Given the description of an element on the screen output the (x, y) to click on. 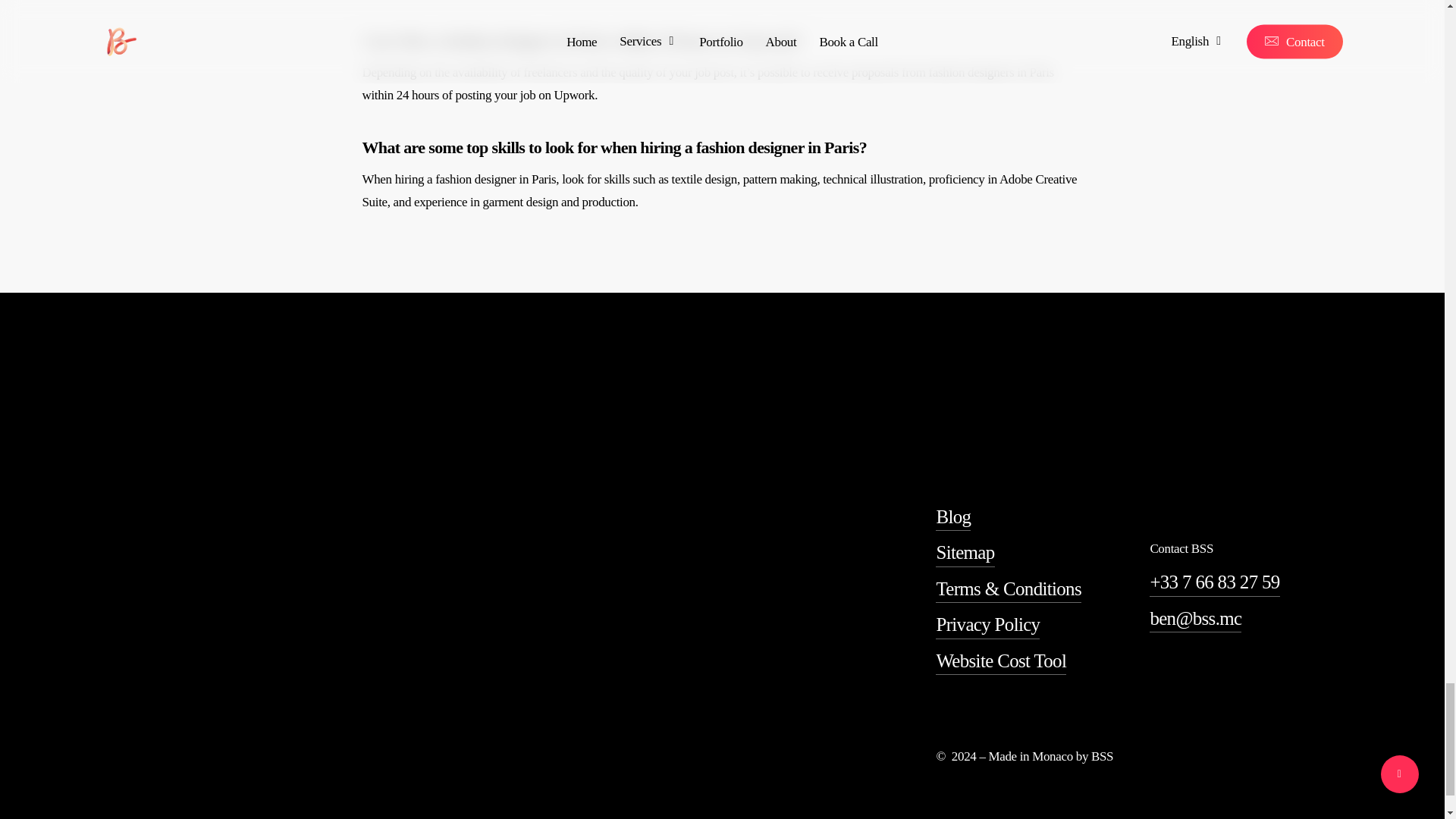
Website Cost Tool (1000, 660)
Blog (953, 516)
Sitemap (965, 552)
Privacy Policy (987, 624)
